Given the description of an element on the screen output the (x, y) to click on. 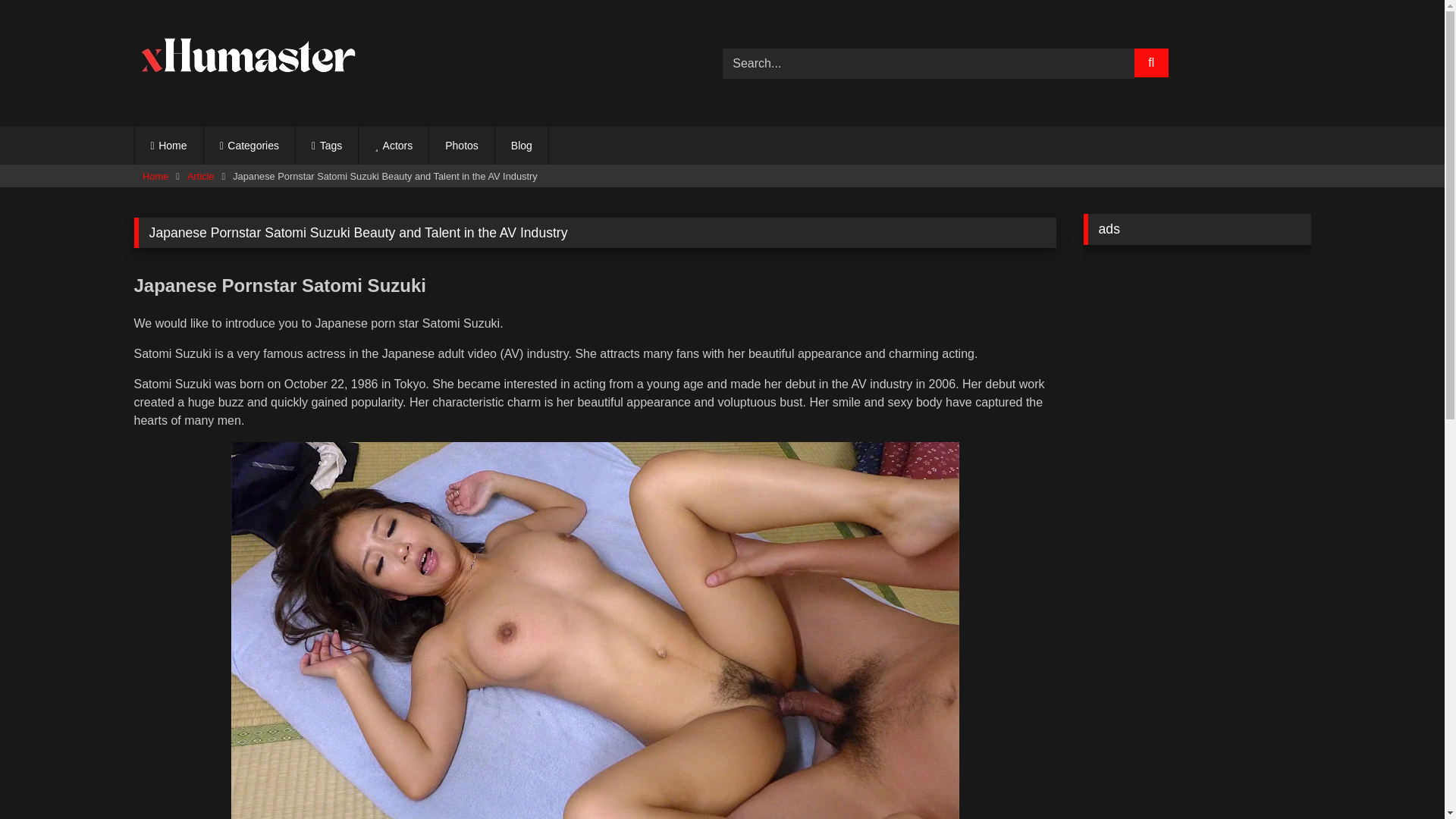
Blog (521, 145)
Article (200, 176)
Tags (326, 145)
Categories (249, 145)
Actors (393, 145)
xHumaster.in (247, 60)
Home (169, 145)
Search... (928, 63)
Photos (462, 145)
Home (155, 176)
